Given the description of an element on the screen output the (x, y) to click on. 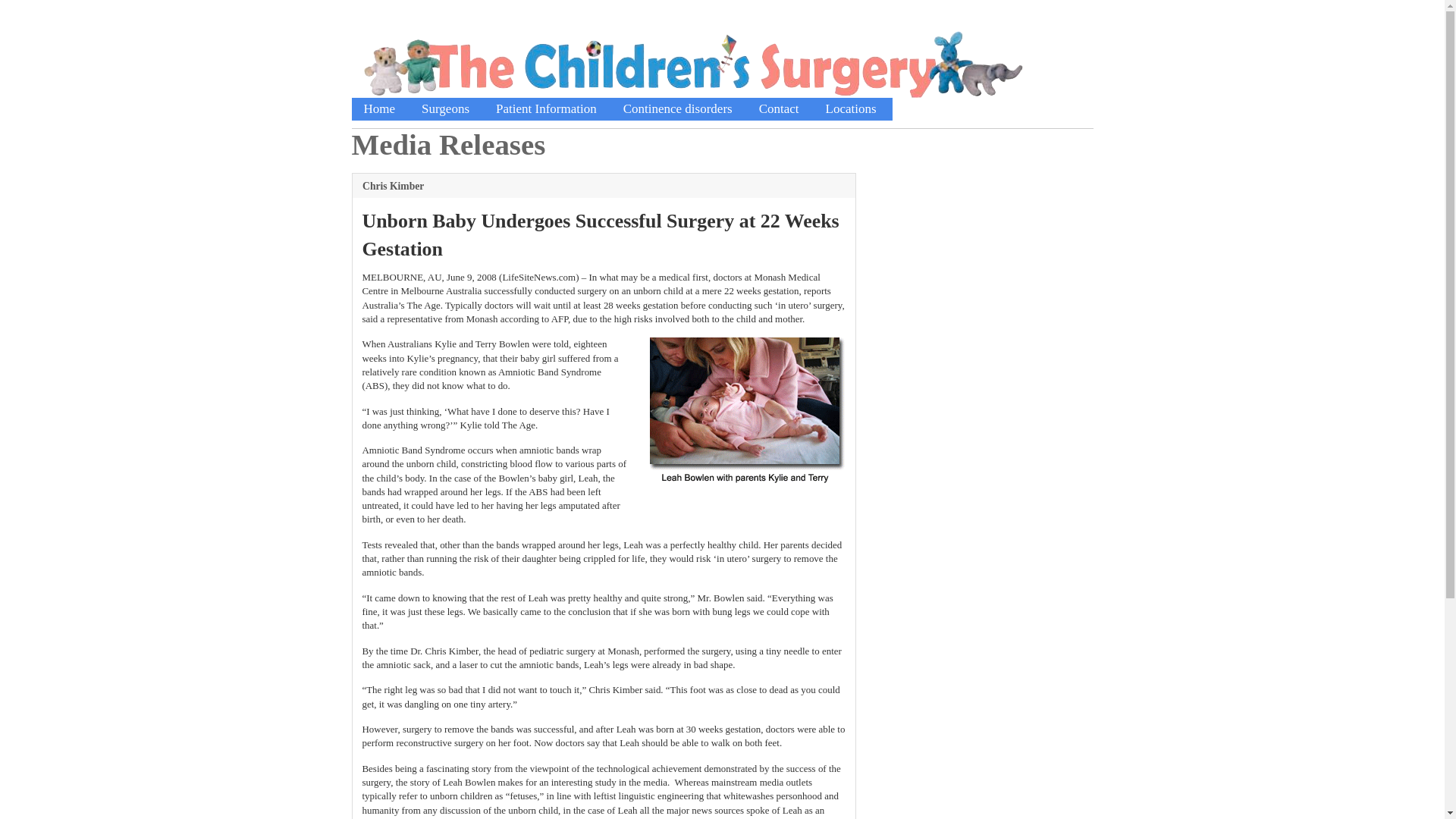
Chris Kimber (603, 186)
Locations (850, 108)
Continence disorders (677, 108)
Contact (779, 108)
Home (379, 108)
Patient Information (546, 108)
The Childrens Surgery (695, 66)
The Childrens Surgery (695, 108)
Surgeons (445, 108)
